Given the description of an element on the screen output the (x, y) to click on. 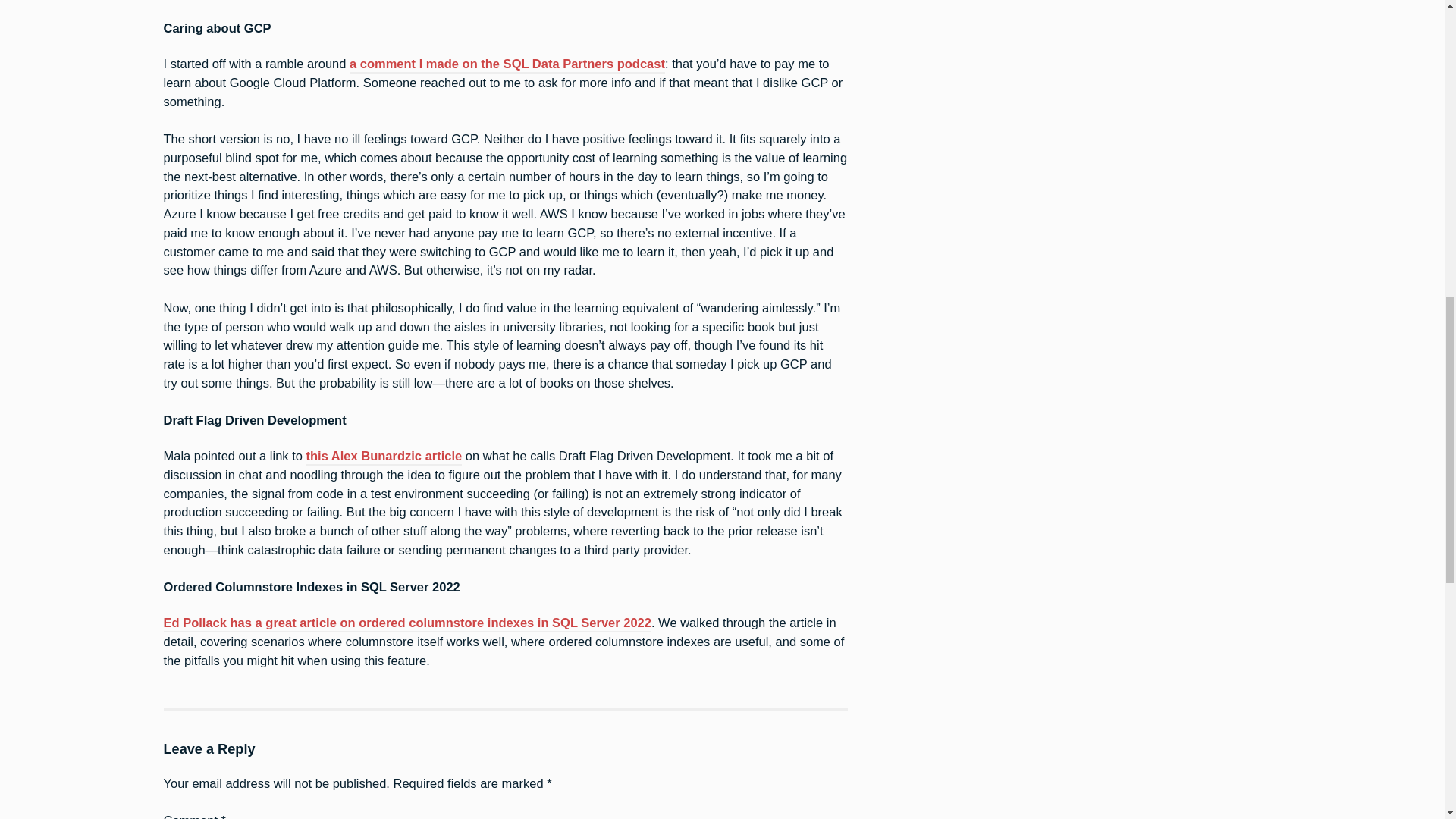
this Alex Bunardzic article (384, 457)
a comment I made on the SQL Data Partners podcast (507, 64)
